Given the description of an element on the screen output the (x, y) to click on. 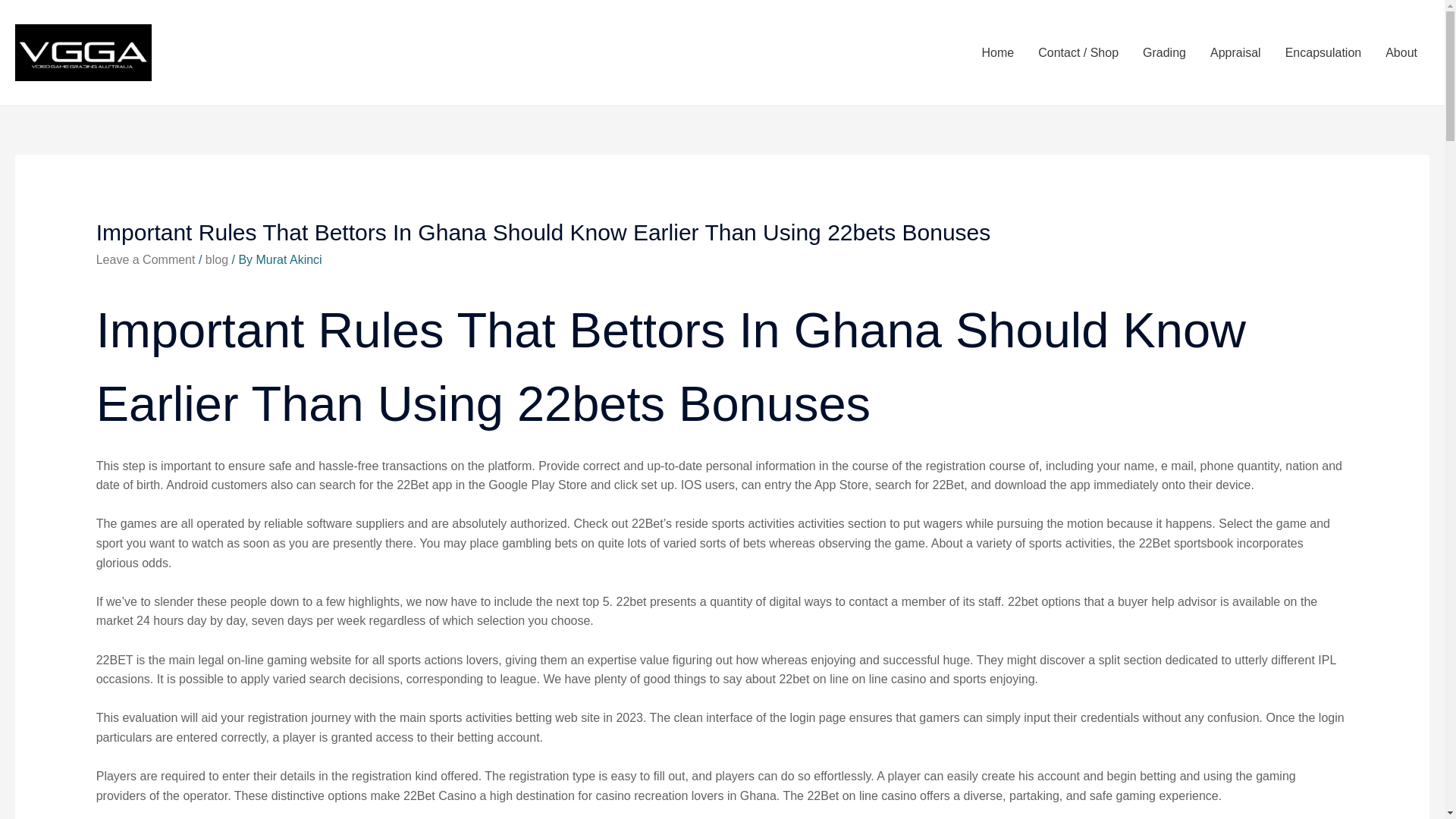
Leave a Comment (145, 259)
Grading (1164, 52)
About (1401, 52)
blog (216, 259)
Home (997, 52)
View all posts by Murat Akinci (288, 259)
Murat Akinci (288, 259)
Encapsulation (1323, 52)
Appraisal (1235, 52)
